Given the description of an element on the screen output the (x, y) to click on. 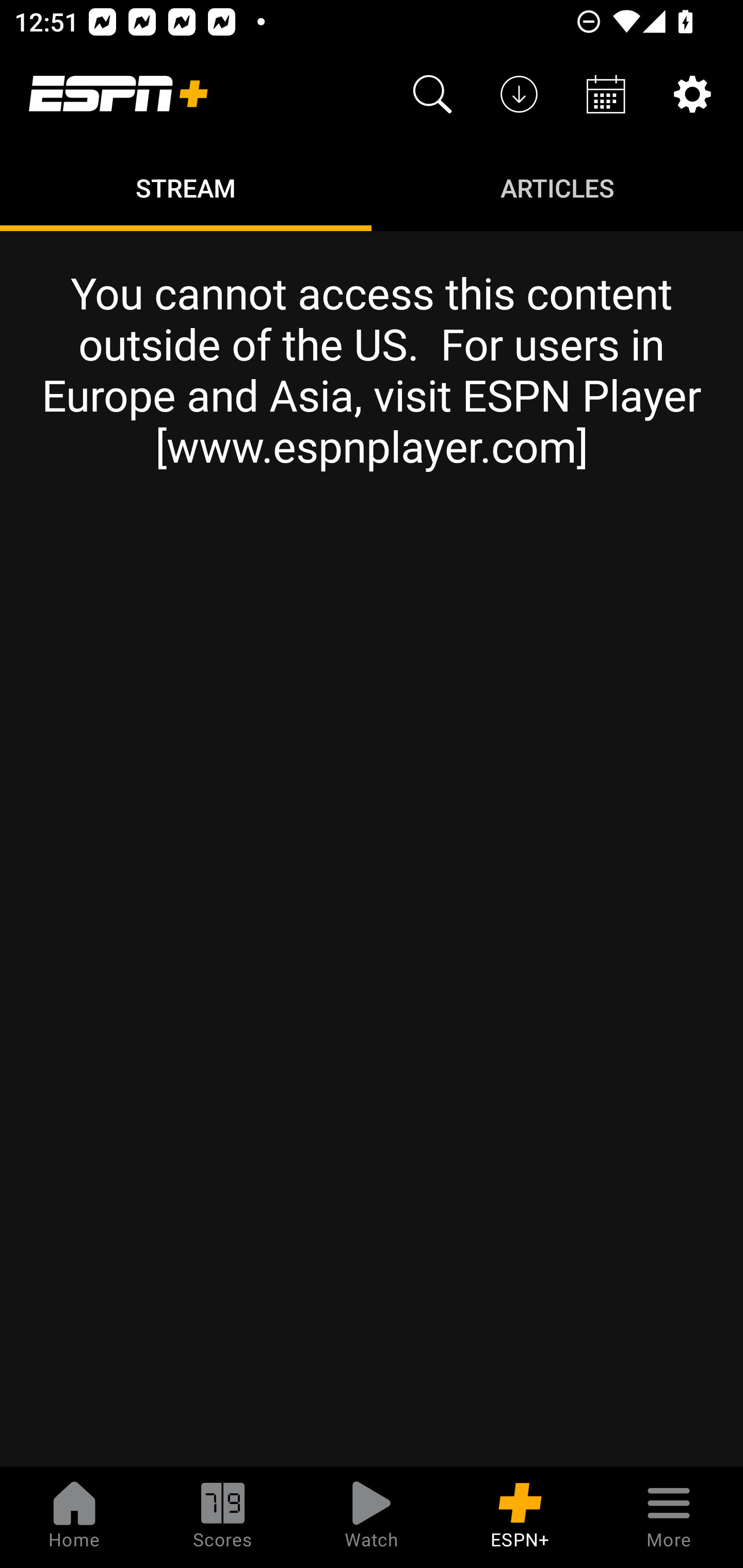
Search (432, 93)
Downloads (518, 93)
Schedule (605, 93)
Settings (692, 93)
Articles ARTICLES (557, 187)
Home (74, 1517)
Scores (222, 1517)
Watch (371, 1517)
More (668, 1517)
